Given the description of an element on the screen output the (x, y) to click on. 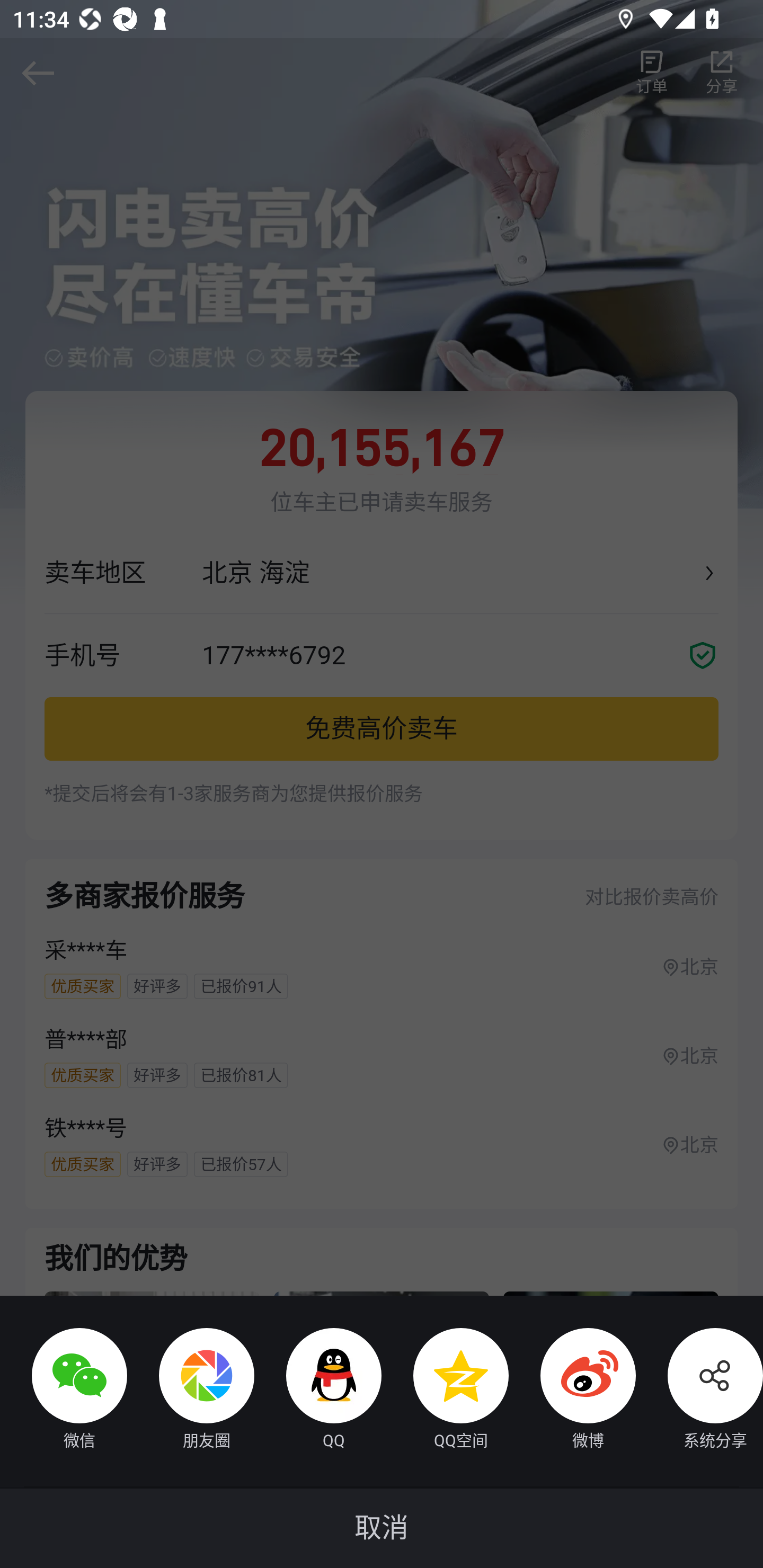
微信 (63, 1390)
朋友圈 (190, 1390)
QQ (317, 1390)
QQ空间 (444, 1390)
微博 (571, 1390)
系统分享 (699, 1390)
取消 (381, 1528)
